Given the description of an element on the screen output the (x, y) to click on. 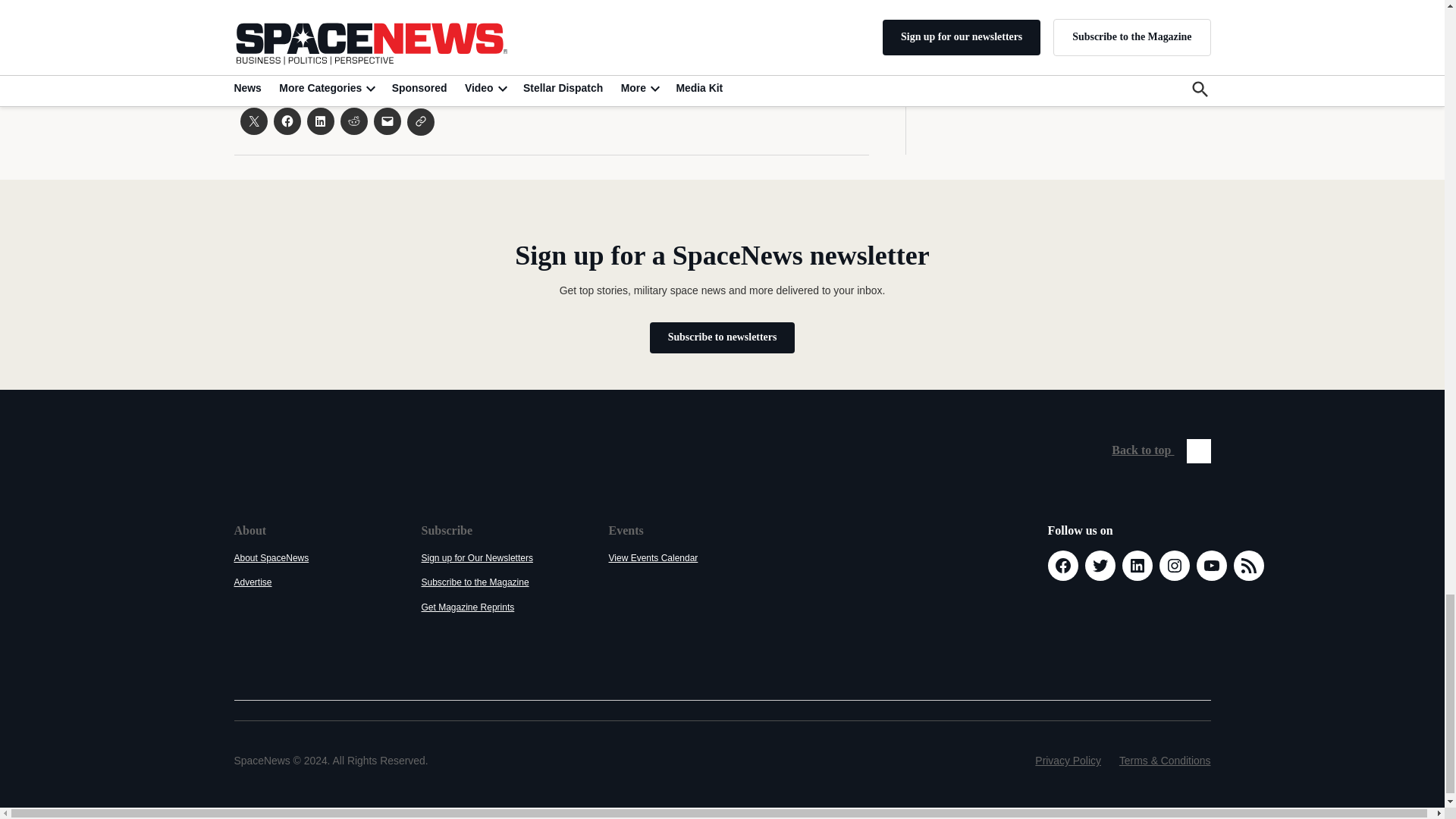
Click to share on Facebook (286, 121)
Click to share on Clipboard (419, 121)
Click to share on LinkedIn (319, 121)
Click to email a link to a friend (386, 121)
Click to share on Reddit (352, 121)
Click to share on X (253, 121)
